Given the description of an element on the screen output the (x, y) to click on. 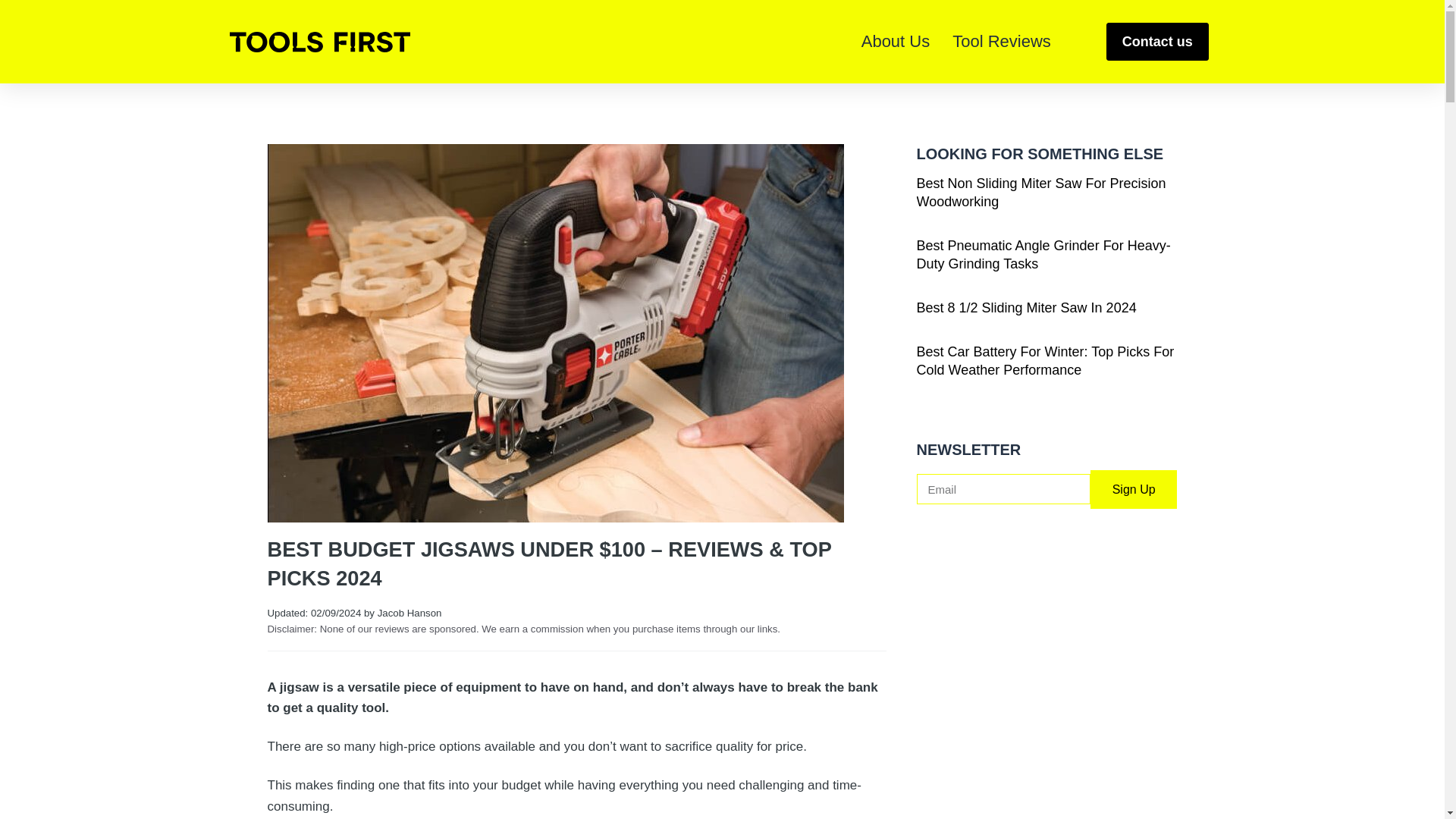
Contact us (1157, 41)
Best Pneumatic Angle Grinder For Heavy-Duty Grinding Tasks (1042, 254)
Tool Reviews (1001, 41)
Best Non Sliding Miter Saw For Precision Woodworking (1040, 192)
Sign Up (1133, 489)
About Us (895, 41)
